Given the description of an element on the screen output the (x, y) to click on. 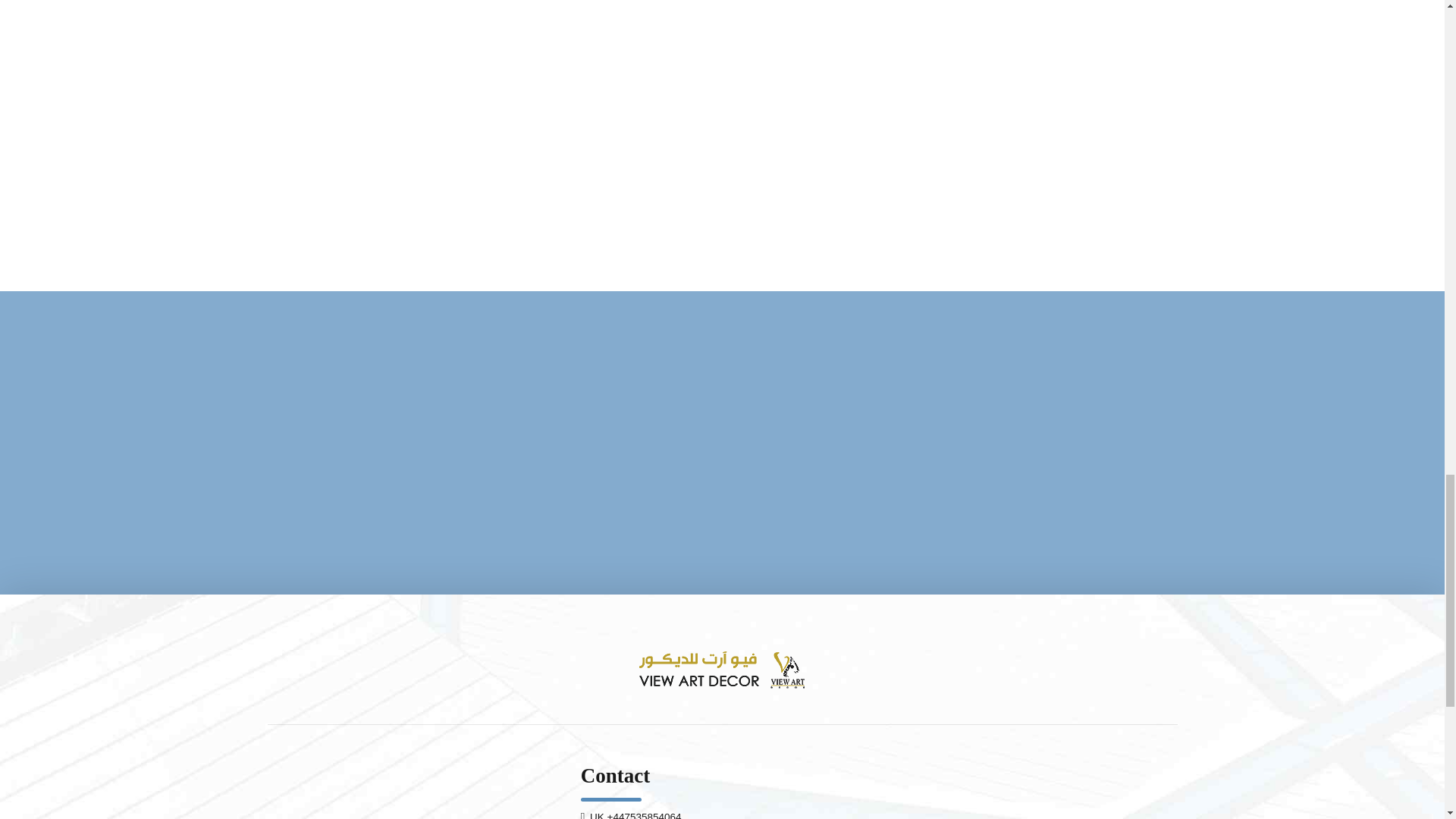
view-art-logo-123 (721, 668)
